Given the description of an element on the screen output the (x, y) to click on. 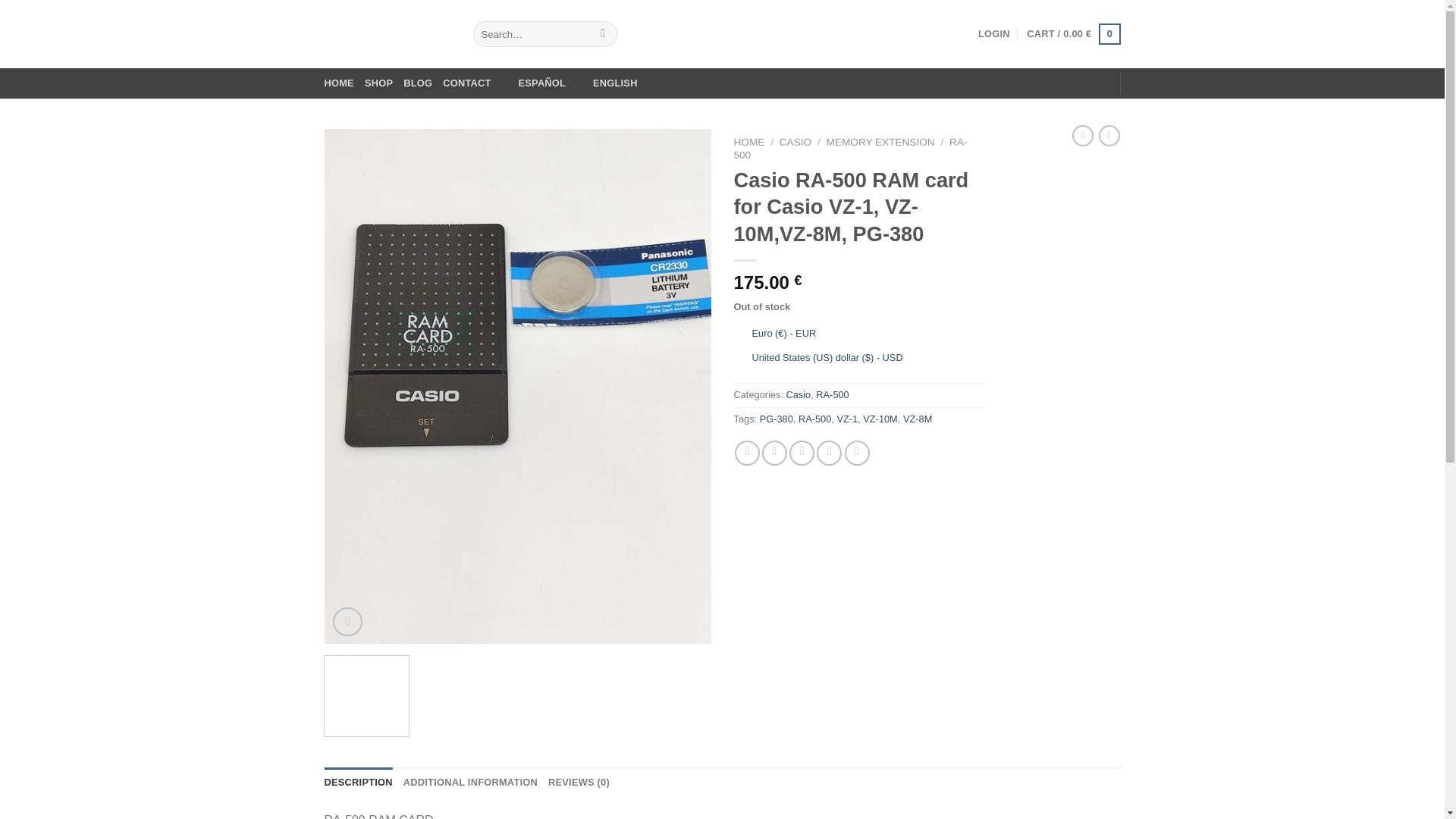
RA-500 (814, 419)
English (606, 82)
Share on Twitter (774, 453)
HOME (749, 142)
Share on Facebook (747, 453)
Search (603, 33)
CONTACT (466, 82)
VZ-1 (846, 419)
BLOG (417, 82)
